Given the description of an element on the screen output the (x, y) to click on. 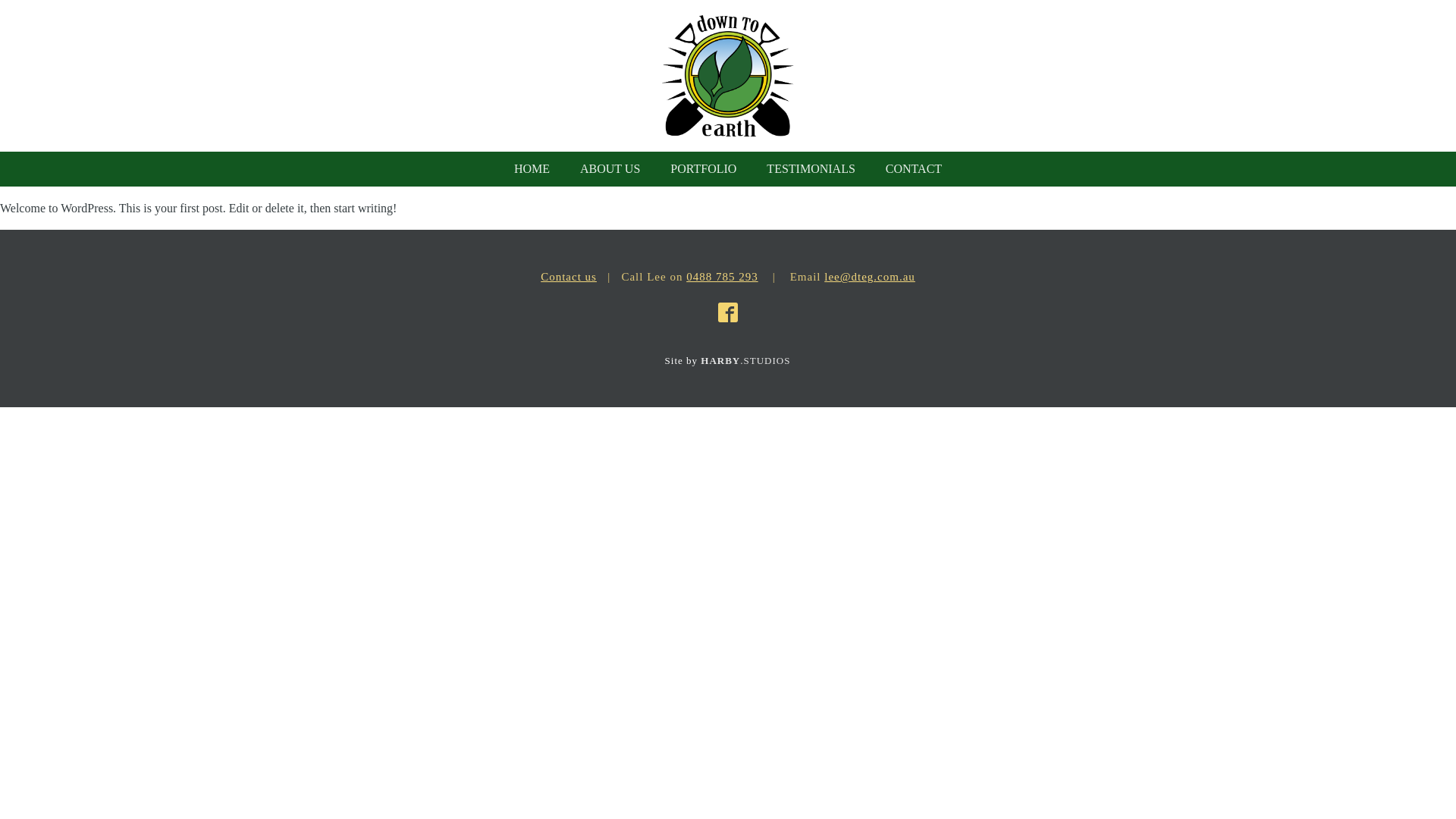
HOME Element type: text (531, 168)
lee@dteg.com.au Element type: text (869, 276)
CONTACT Element type: text (913, 168)
0488 785 293 Element type: text (722, 276)
PORTFOLIO Element type: text (703, 168)
Contact us Element type: text (568, 276)
ABOUT US Element type: text (609, 168)
HARBY.STUDIOS Element type: text (745, 360)
TESTIMONIALS Element type: text (810, 168)
